Given the description of an element on the screen output the (x, y) to click on. 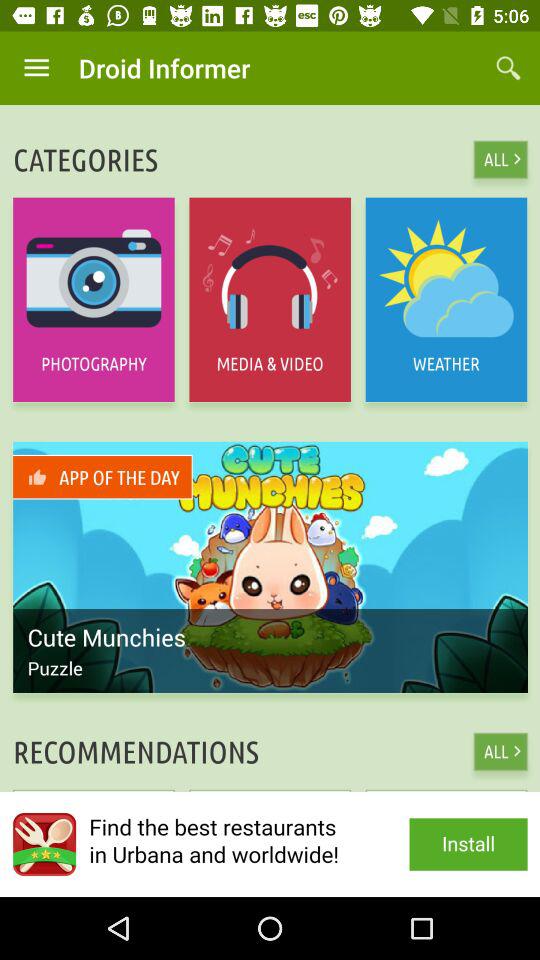
install the app (270, 844)
